Given the description of an element on the screen output the (x, y) to click on. 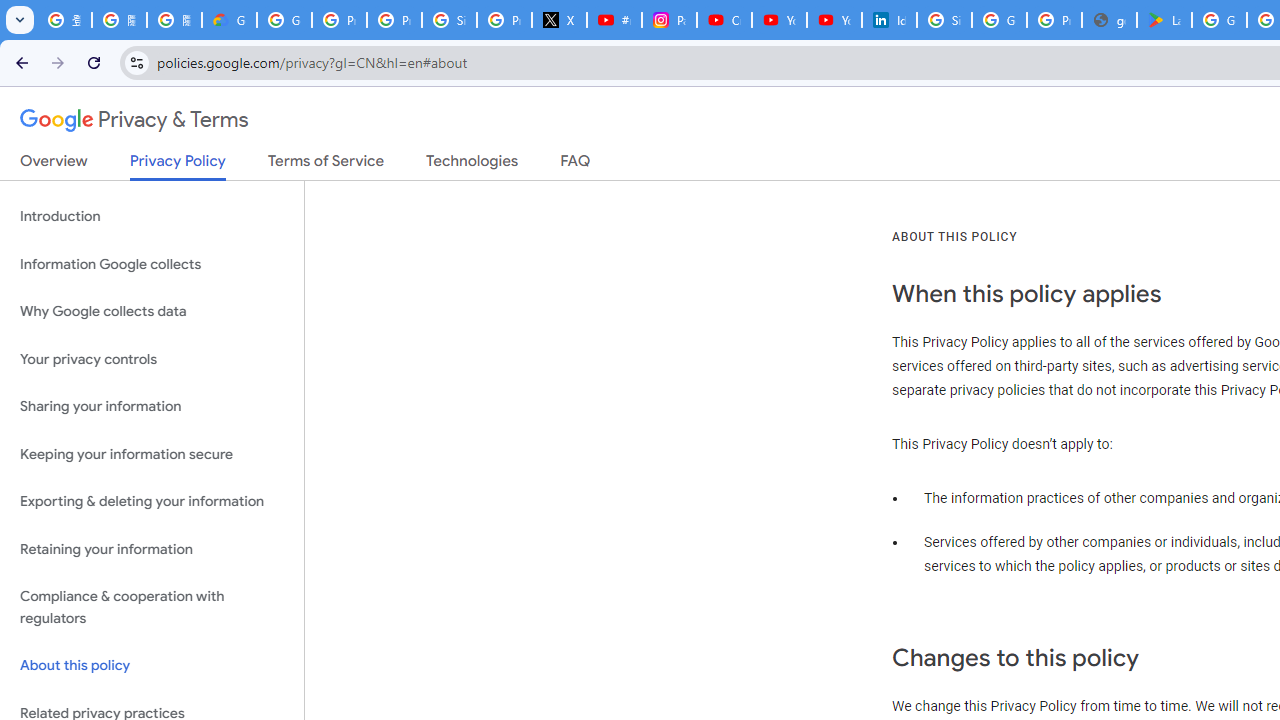
Information Google collects (152, 263)
Sign in - Google Accounts (449, 20)
X (559, 20)
Keeping your information secure (152, 453)
Sign in - Google Accounts (943, 20)
